Given the description of an element on the screen output the (x, y) to click on. 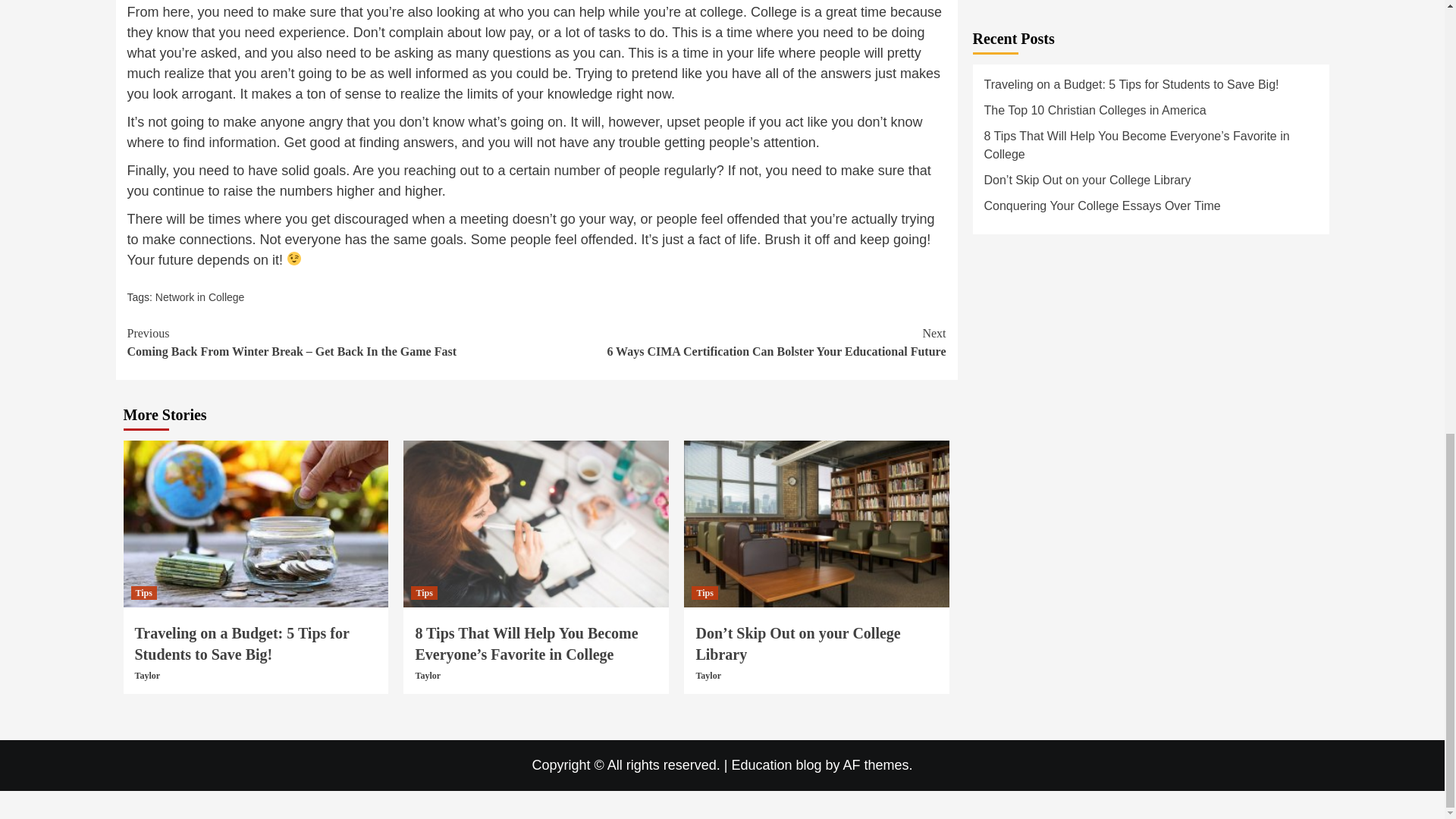
Traveling on a Budget: 5 Tips for Students to Save Big! (242, 643)
Tips (704, 592)
Education blog (775, 765)
Taylor (707, 675)
Tips (423, 592)
Taylor (427, 675)
Taylor (147, 675)
Tips (143, 592)
Network in College (199, 297)
